Given the description of an element on the screen output the (x, y) to click on. 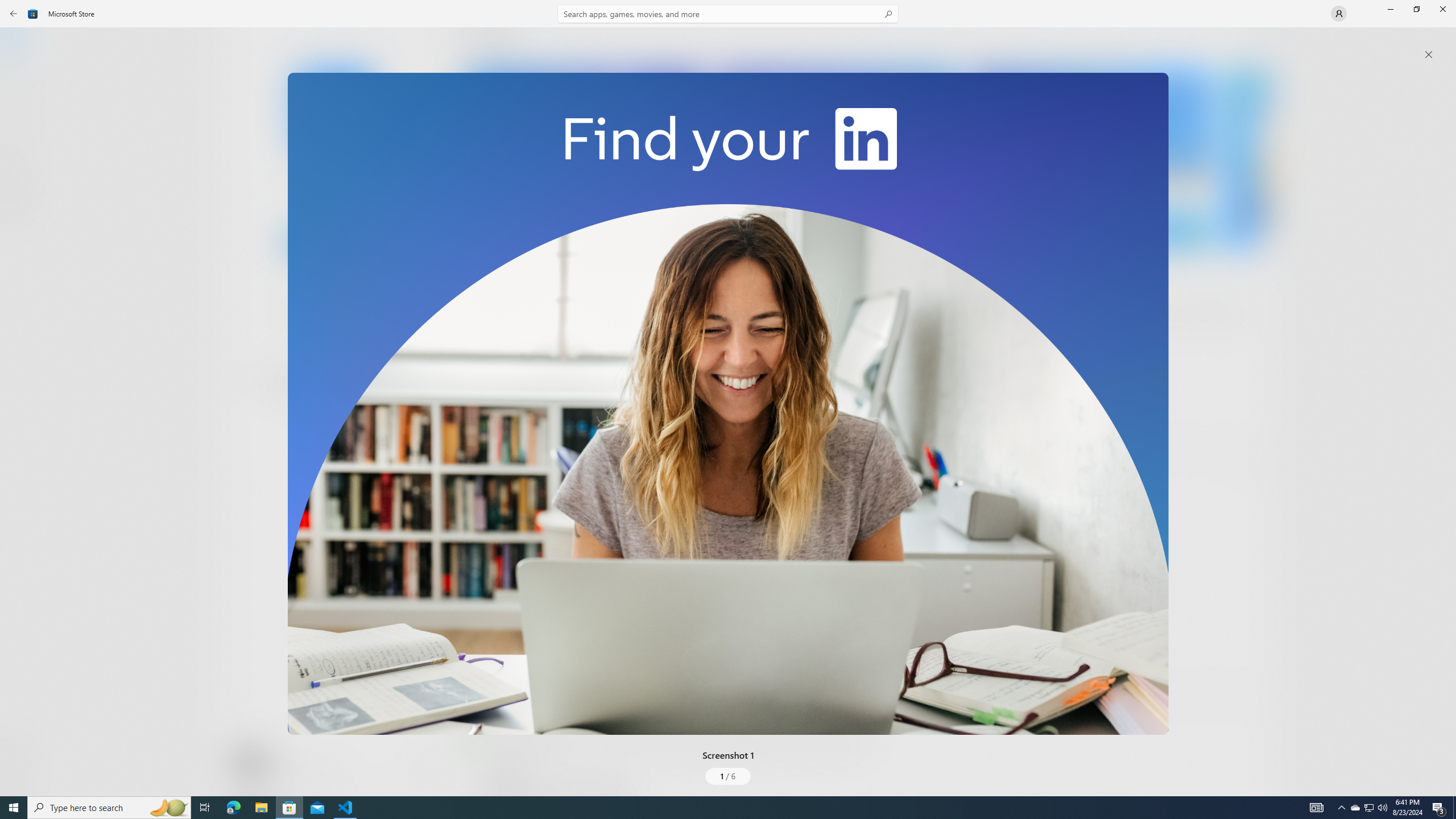
Screenshot 3 (1089, 158)
